Given the description of an element on the screen output the (x, y) to click on. 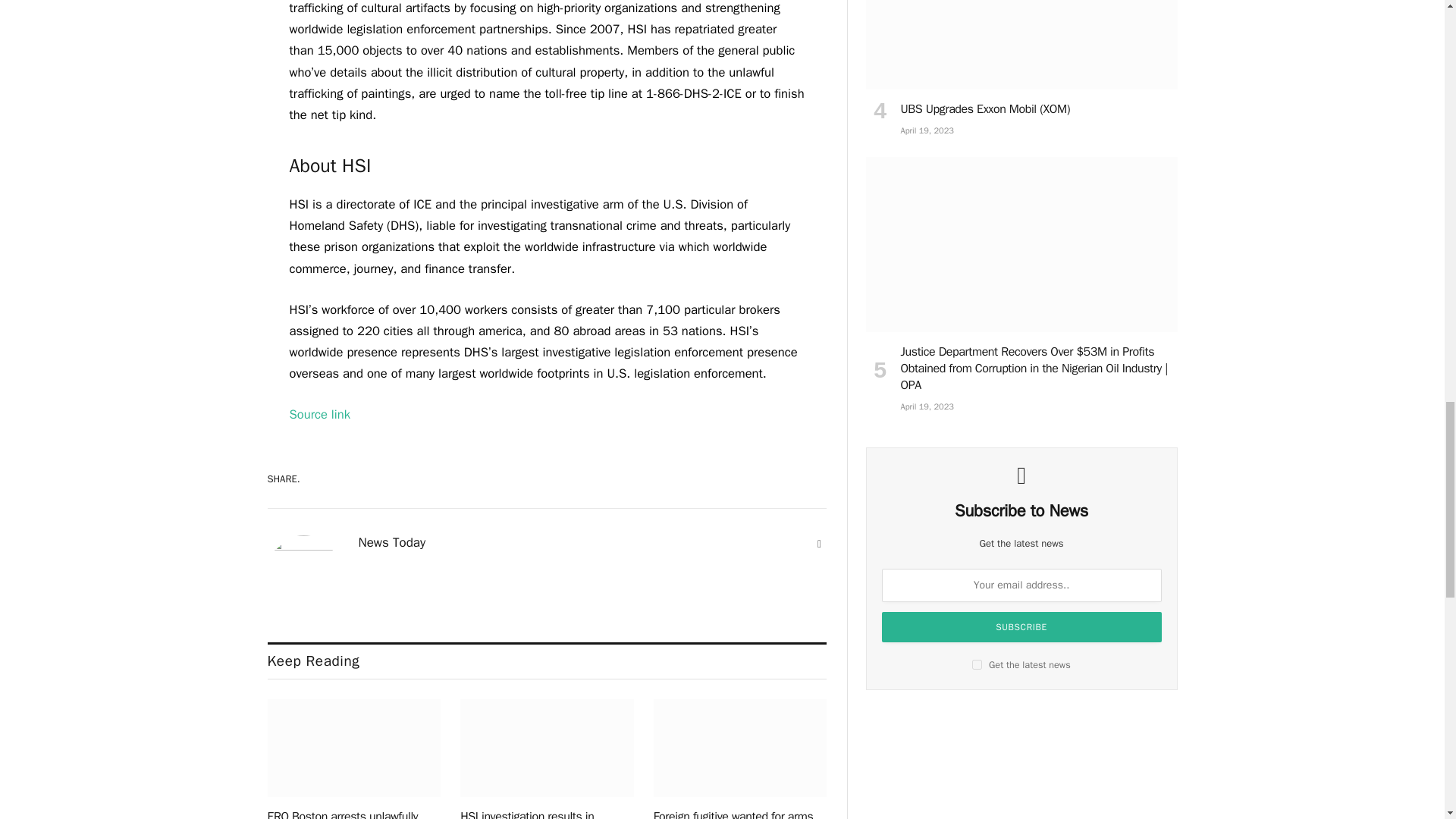
Share on LinkedIn (800, 478)
Subscribe (1021, 626)
on (976, 664)
Share on Twitter (746, 478)
Share on Facebook (693, 478)
